Given the description of an element on the screen output the (x, y) to click on. 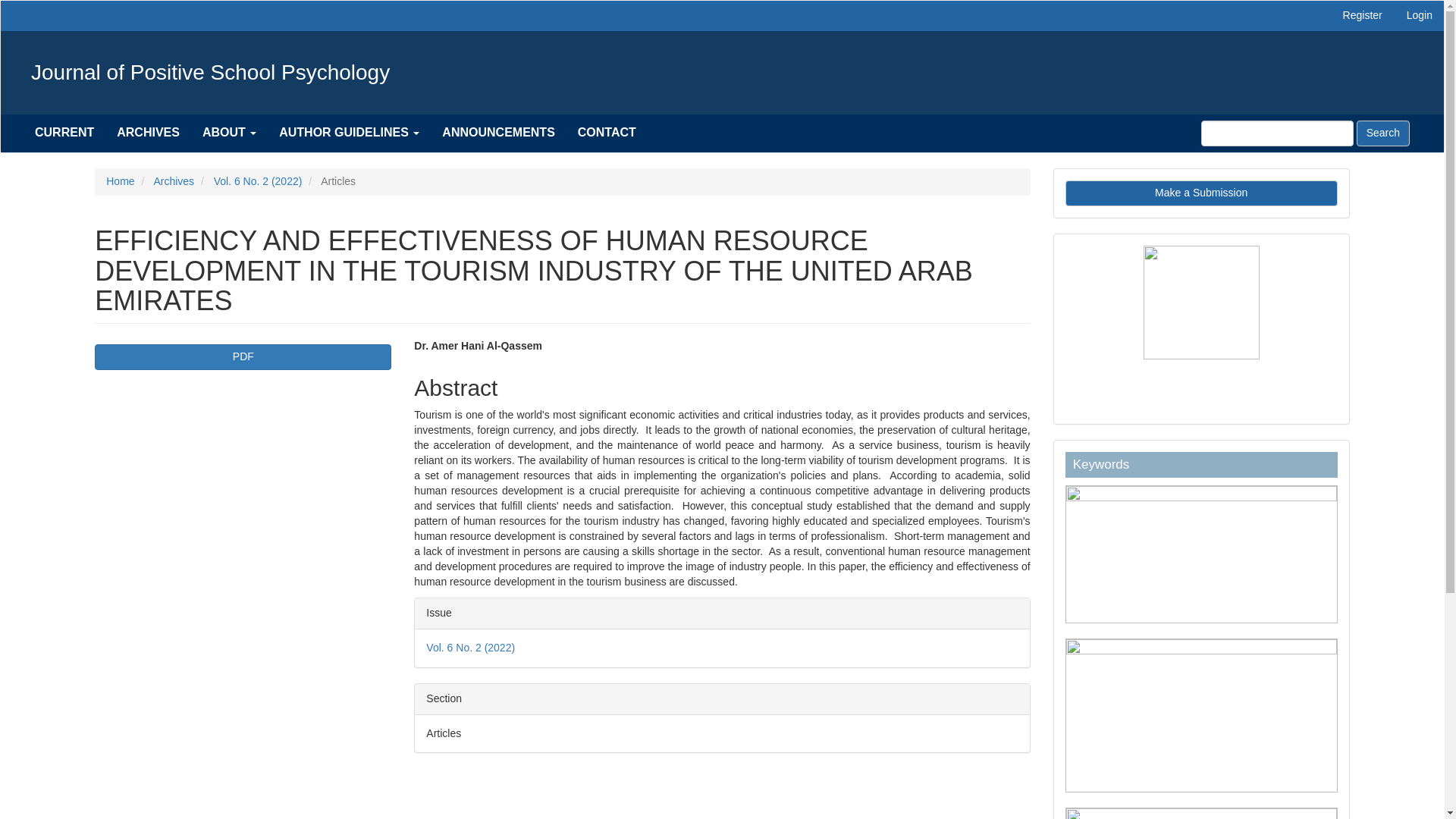
ABOUT (228, 132)
AUTHOR GUIDELINES (348, 132)
Archives (172, 181)
Home (119, 181)
Make a Submission (1201, 193)
ARCHIVES (147, 132)
PDF (242, 356)
Login (1419, 15)
Journal of Positive School Psychology (210, 72)
ANNOUNCEMENTS (498, 132)
